Given the description of an element on the screen output the (x, y) to click on. 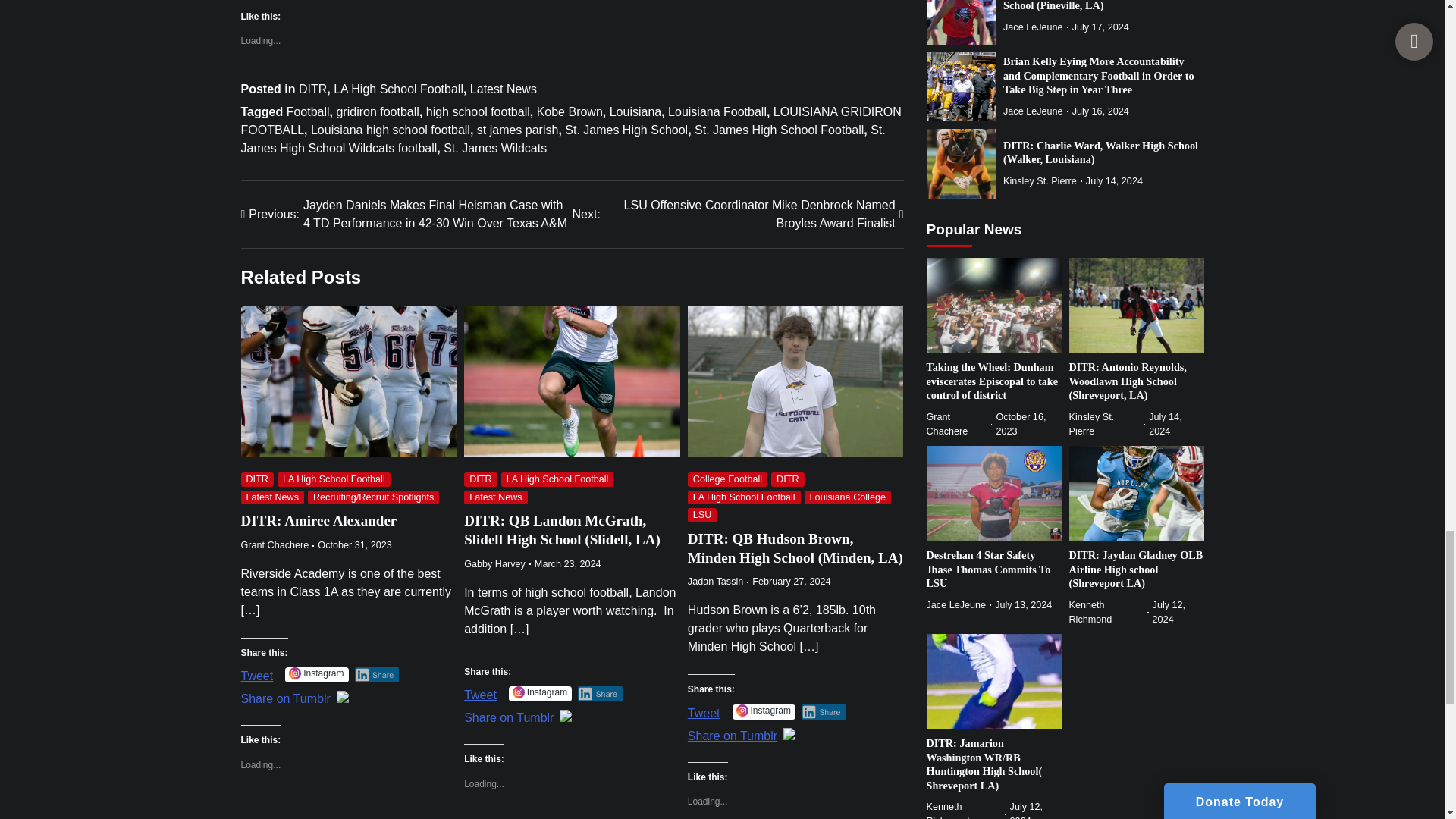
Click to share on Instagram (316, 674)
Share on Tumblr (285, 696)
gridiron football (377, 111)
Latest News (503, 88)
high school football (477, 111)
LA High School Football (398, 88)
Football (308, 111)
Louisiana Football (717, 111)
Kobe Brown (569, 111)
St. James High School (625, 129)
Click to share on Instagram (540, 693)
st james parish (518, 129)
Share on Tumblr (732, 734)
Louisiana high school football (390, 129)
Louisiana (636, 111)
